Given the description of an element on the screen output the (x, y) to click on. 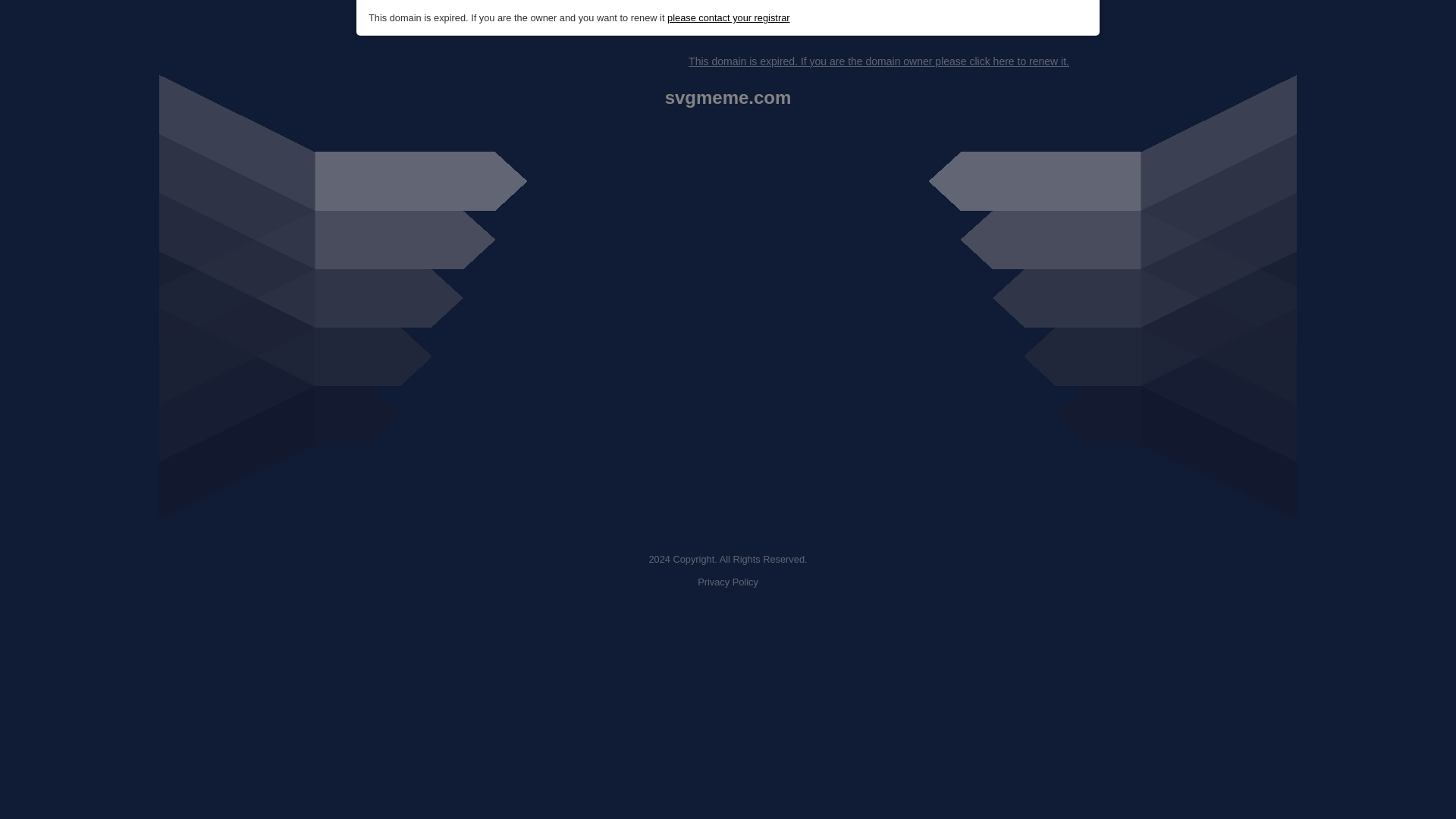
Privacy Policy (727, 582)
please contact your registrar (727, 17)
